Given the description of an element on the screen output the (x, y) to click on. 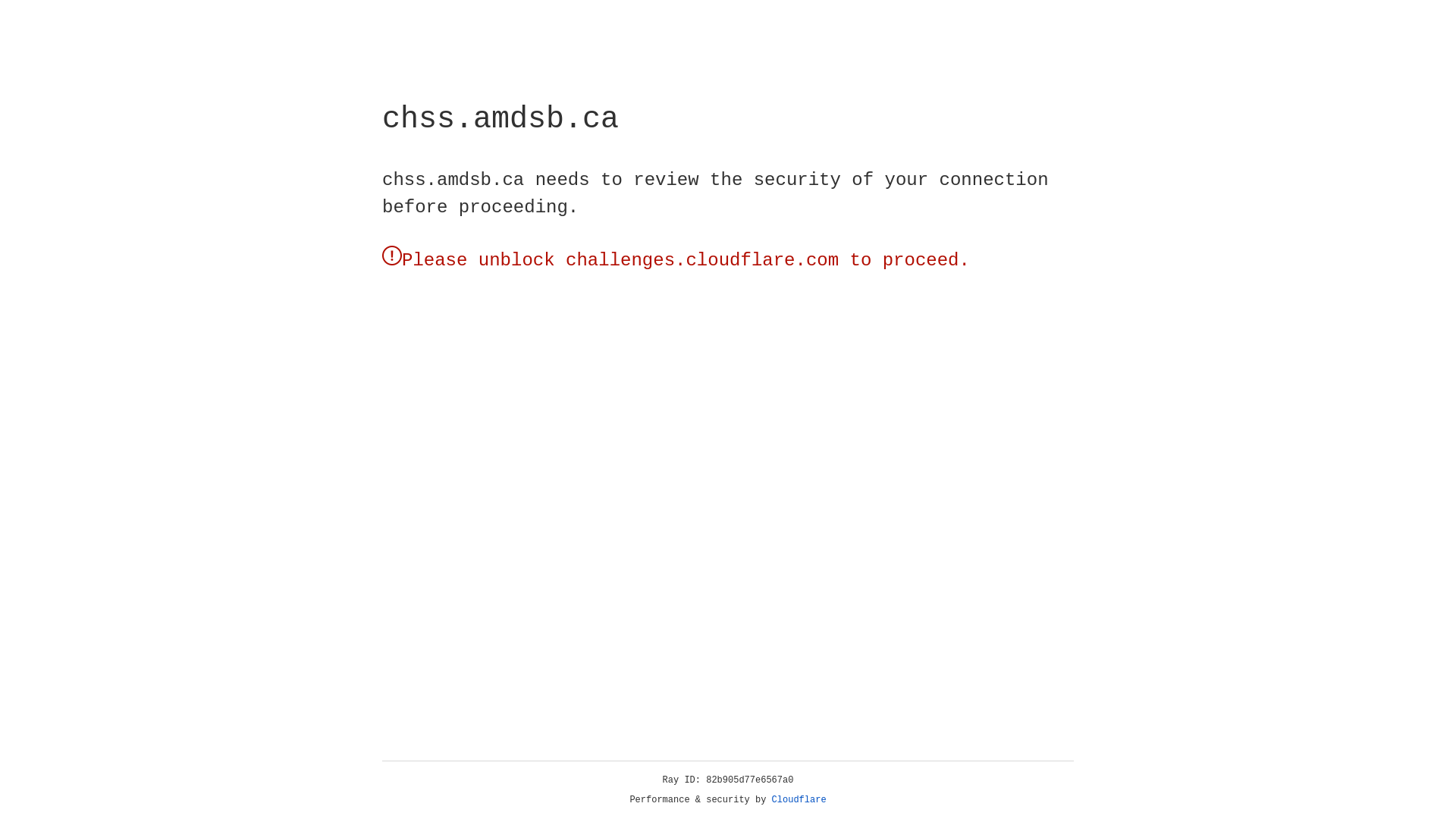
Cloudflare Element type: text (798, 799)
